Given the description of an element on the screen output the (x, y) to click on. 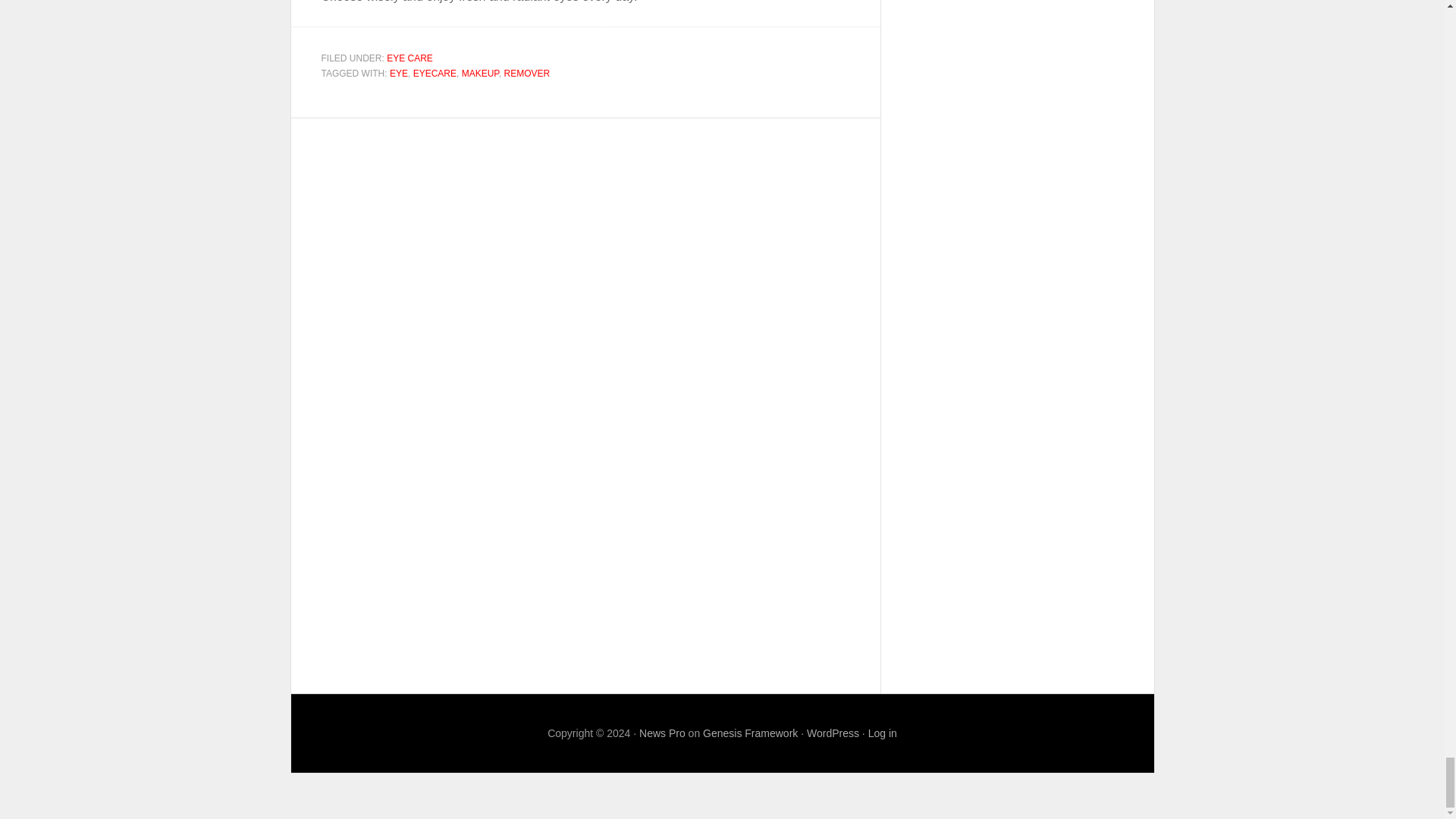
REMOVER (526, 72)
MAKEUP (480, 72)
EYE CARE (409, 58)
EYECARE (435, 72)
News Pro (662, 733)
EYE (398, 72)
